Given the description of an element on the screen output the (x, y) to click on. 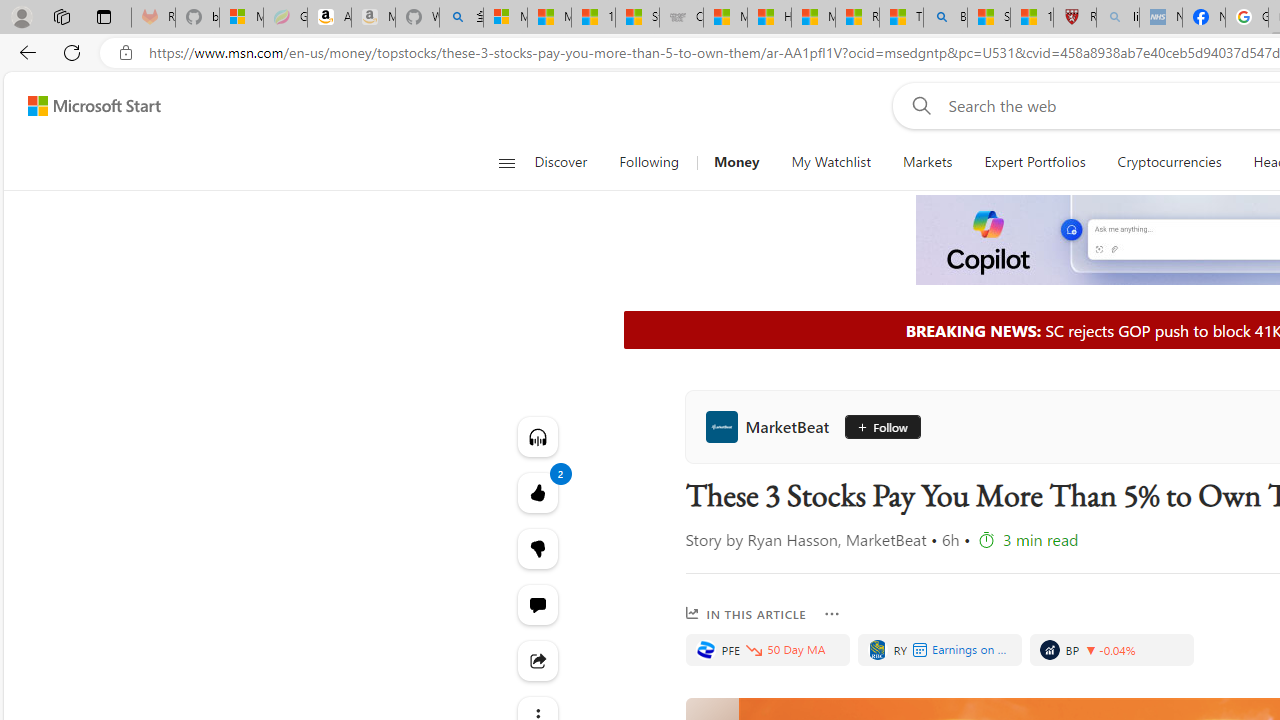
2 (537, 548)
Price decrease (1090, 650)
PFIZER INC. (705, 650)
Cryptocurrencies (1169, 162)
More Options (832, 614)
BP, BP P.L.C.. Price is 33.51. Decreased by -0.04% (1111, 650)
